Given the description of an element on the screen output the (x, y) to click on. 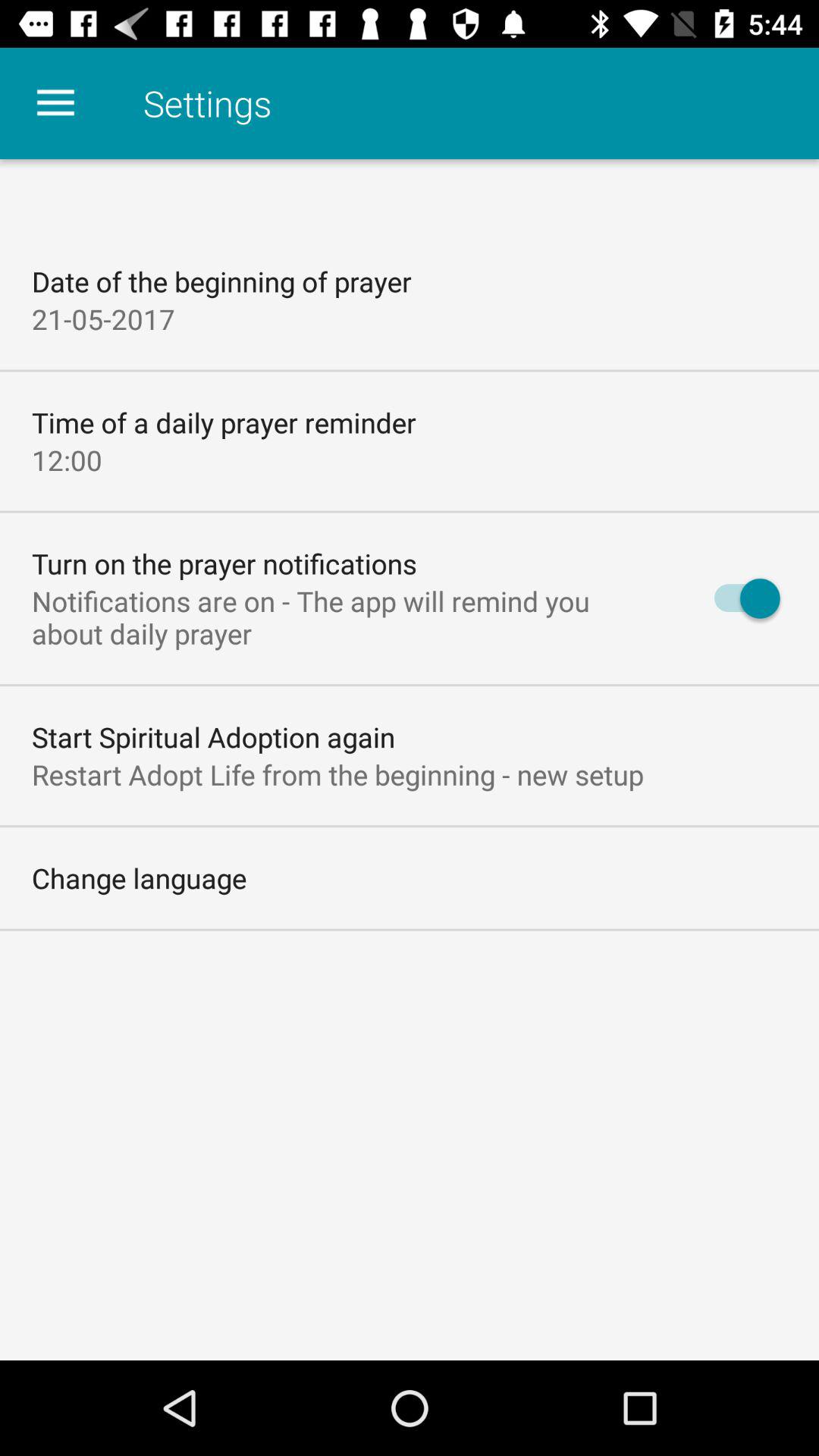
launch the item below the time of a icon (66, 459)
